Given the description of an element on the screen output the (x, y) to click on. 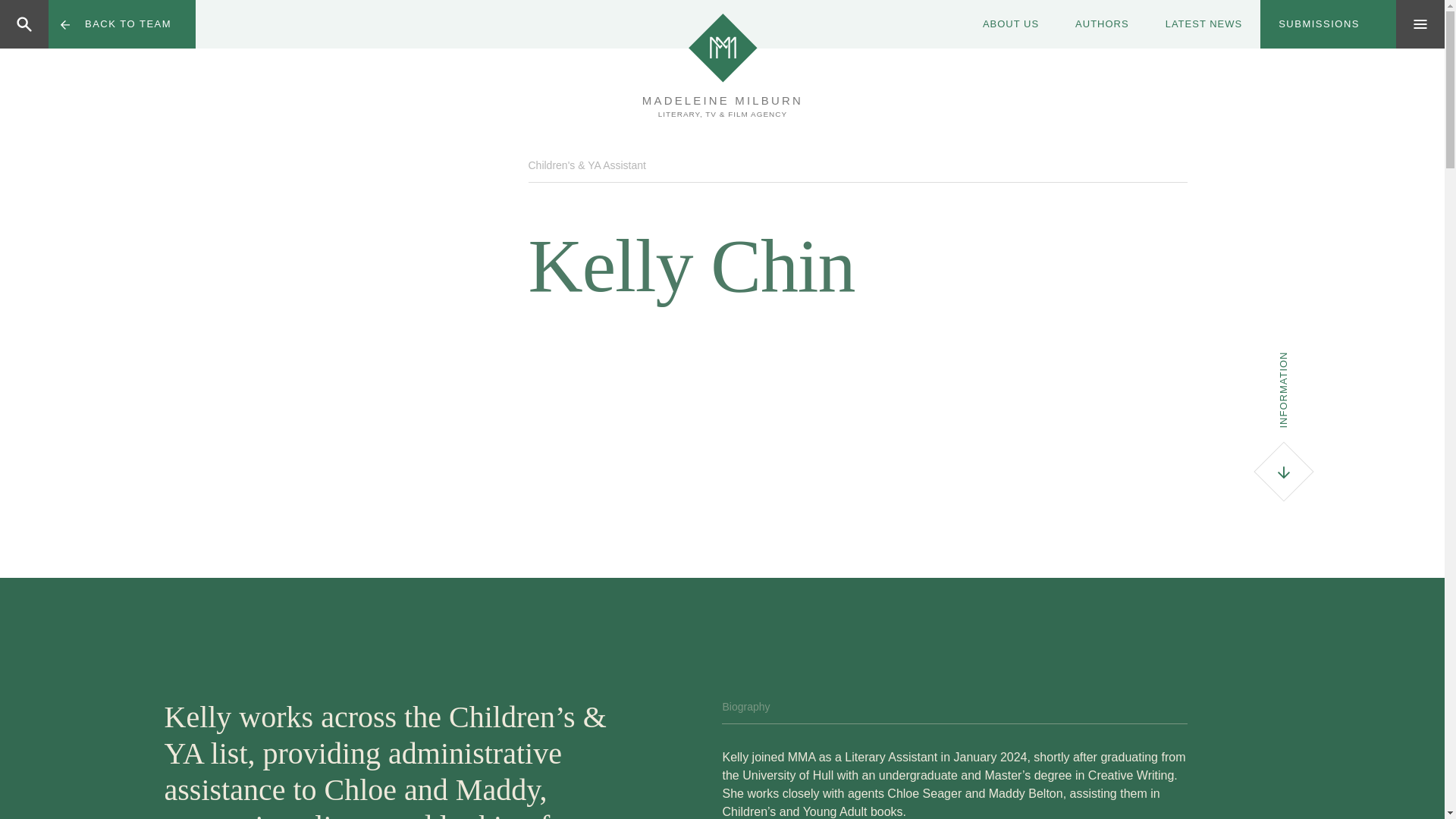
BACK TO TEAM (121, 24)
SUBMISSIONS (1328, 24)
LATEST NEWS (1203, 24)
Menu button (1420, 24)
Search (84, 24)
AUTHORS (1102, 24)
ABOUT US (1010, 24)
